Given the description of an element on the screen output the (x, y) to click on. 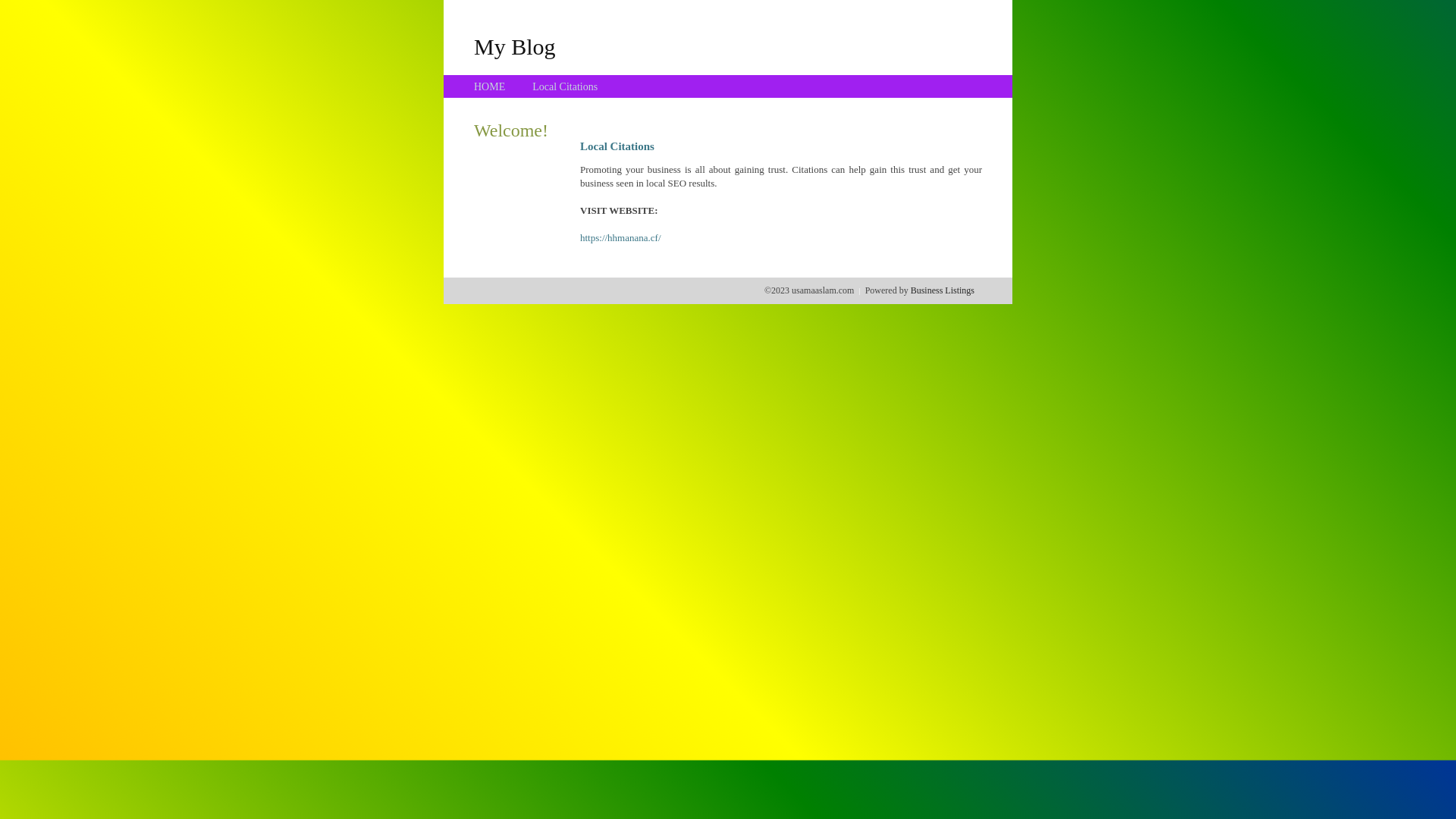
Local Citations Element type: text (564, 86)
https://hhmanana.cf/ Element type: text (620, 237)
HOME Element type: text (489, 86)
Business Listings Element type: text (942, 290)
My Blog Element type: text (514, 46)
